Given the description of an element on the screen output the (x, y) to click on. 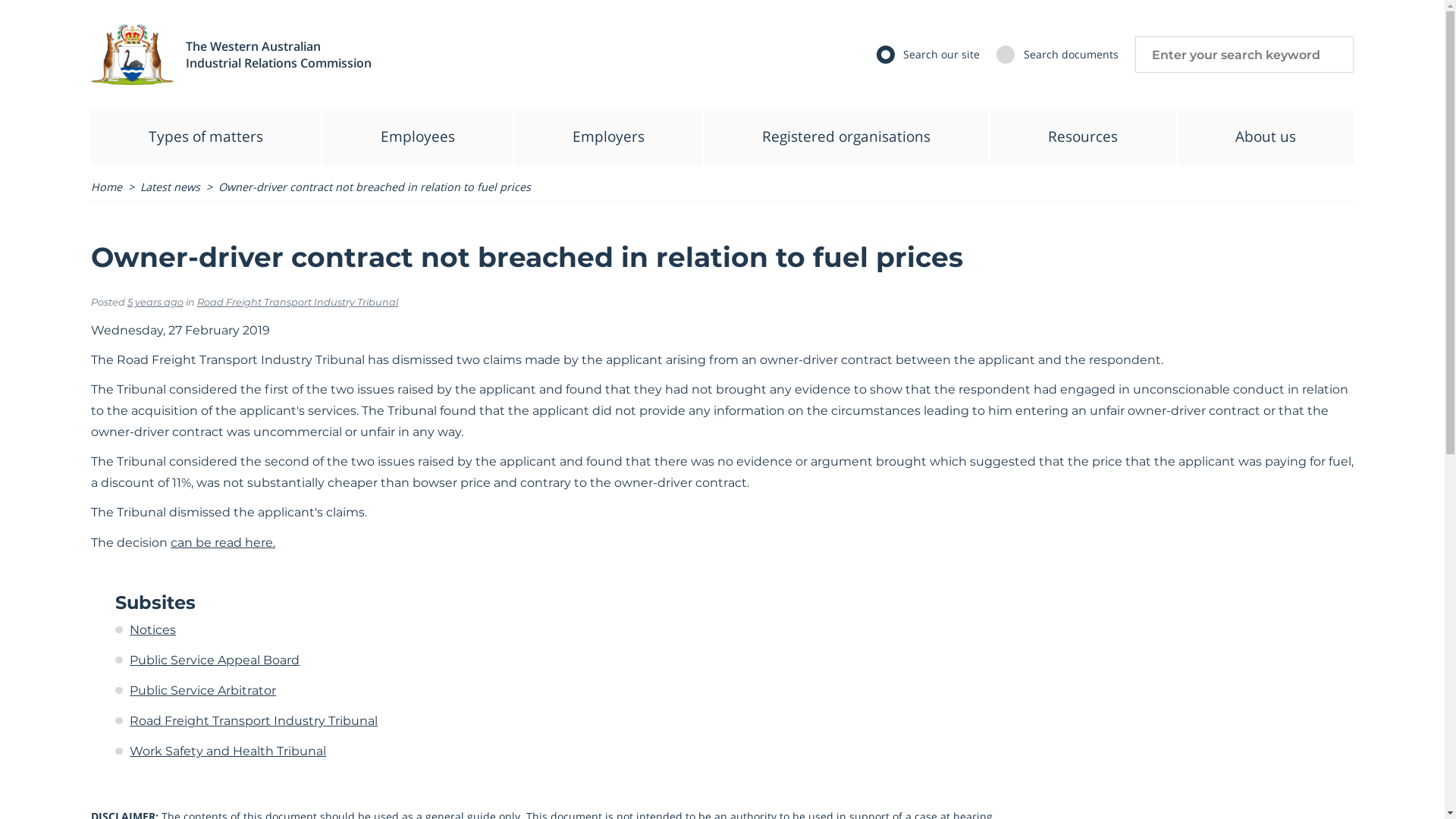
Notices Element type: text (152, 629)
Road Freight Transport Industry Tribunal Element type: text (253, 720)
Employers Element type: text (608, 137)
Home Element type: text (106, 186)
Public Service Arbitrator Element type: text (202, 690)
can be read here. Element type: text (222, 542)
The Western Australian
Industrial Relations Commission Element type: text (278, 54)
Work Safety and Health Tribunal Element type: text (227, 750)
Road Freight Transport Industry Tribunal Element type: text (297, 301)
Resources Element type: text (1082, 137)
5 years ago Element type: text (155, 301)
Public Service Appeal Board Element type: text (214, 659)
About us Element type: text (1265, 137)
Employees Element type: text (417, 137)
Types of matters Element type: text (205, 137)
Registered organisations Element type: text (846, 137)
Latest news Element type: text (170, 186)
